Given the description of an element on the screen output the (x, y) to click on. 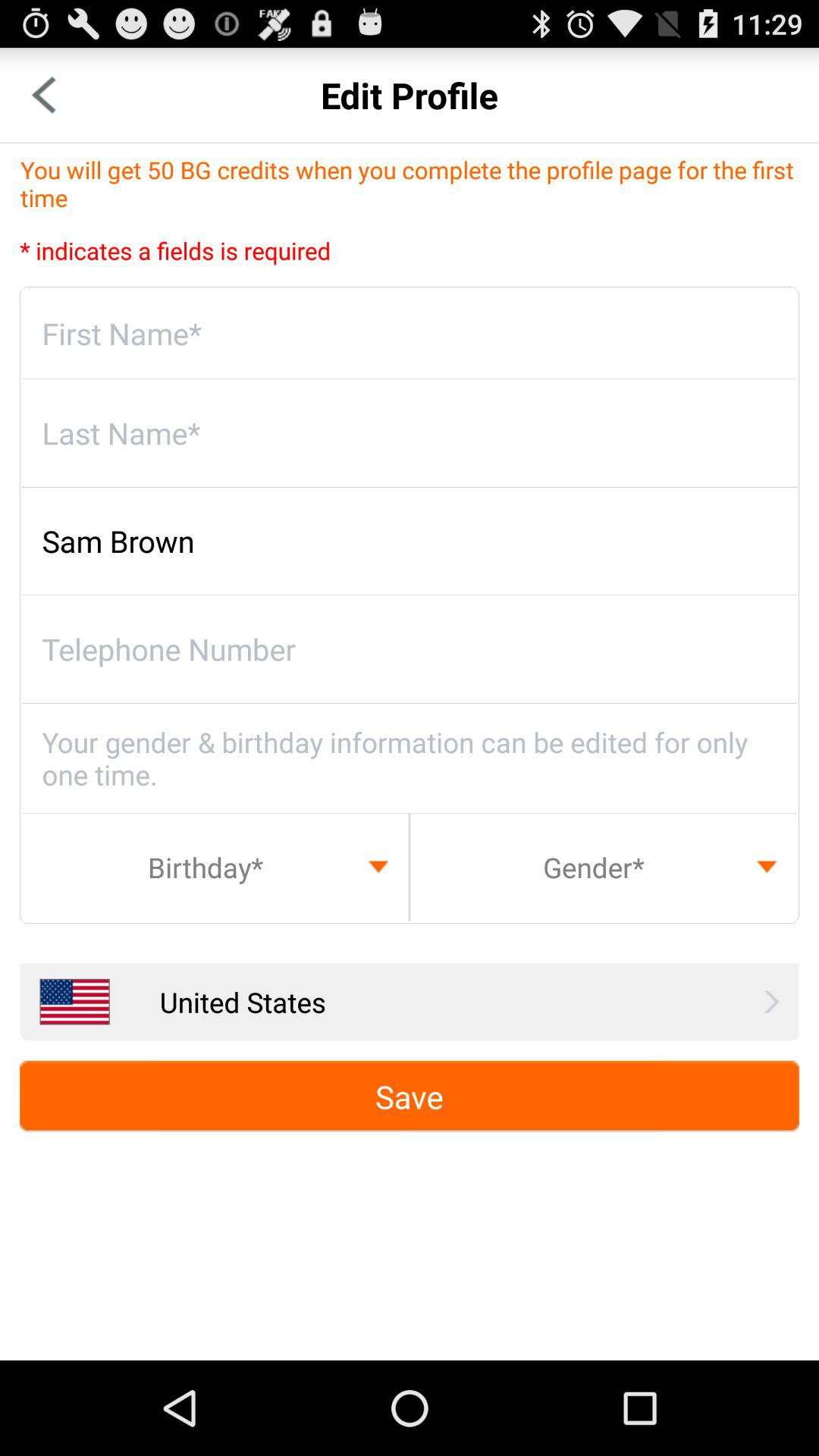
enter your first name (409, 333)
